Given the description of an element on the screen output the (x, y) to click on. 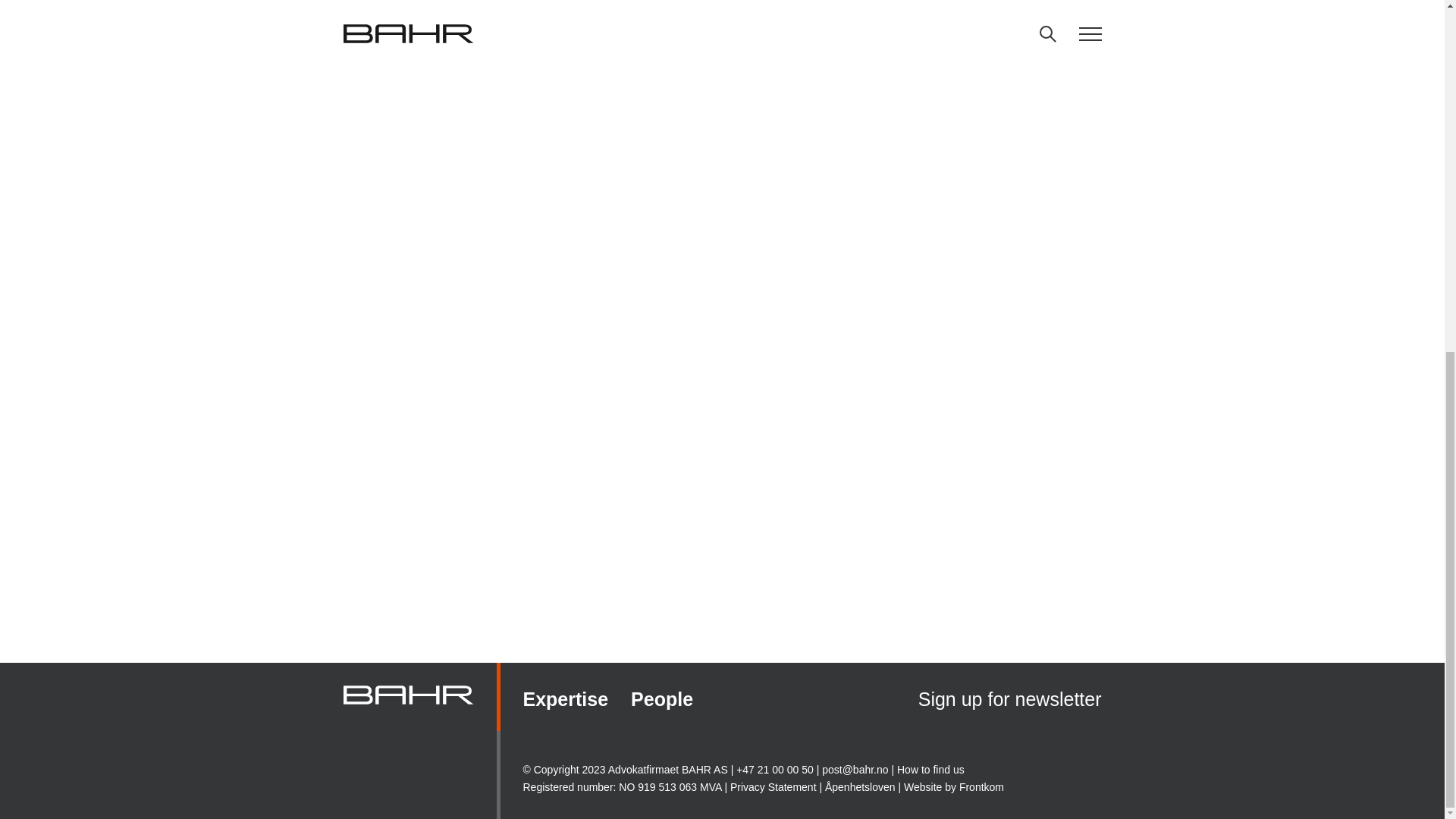
Sign up for newsletter (1010, 700)
How to find us (929, 769)
People (661, 700)
Privacy Statement (773, 787)
Frontkom (981, 787)
Expertise (565, 700)
